Given the description of an element on the screen output the (x, y) to click on. 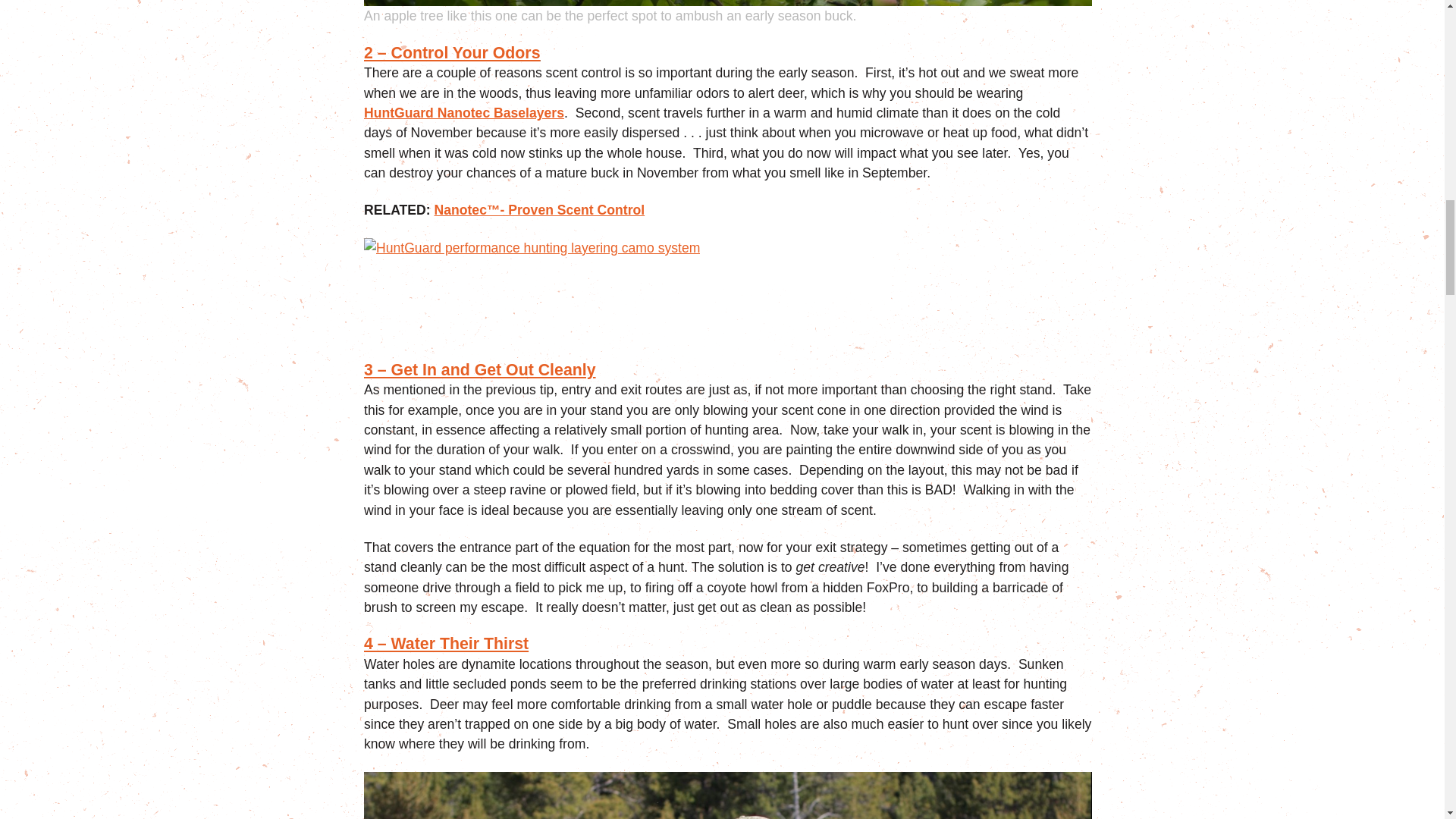
HuntGuard Nanotec Baselayers (464, 112)
Hunting Whitetails over Water (728, 795)
